Given the description of an element on the screen output the (x, y) to click on. 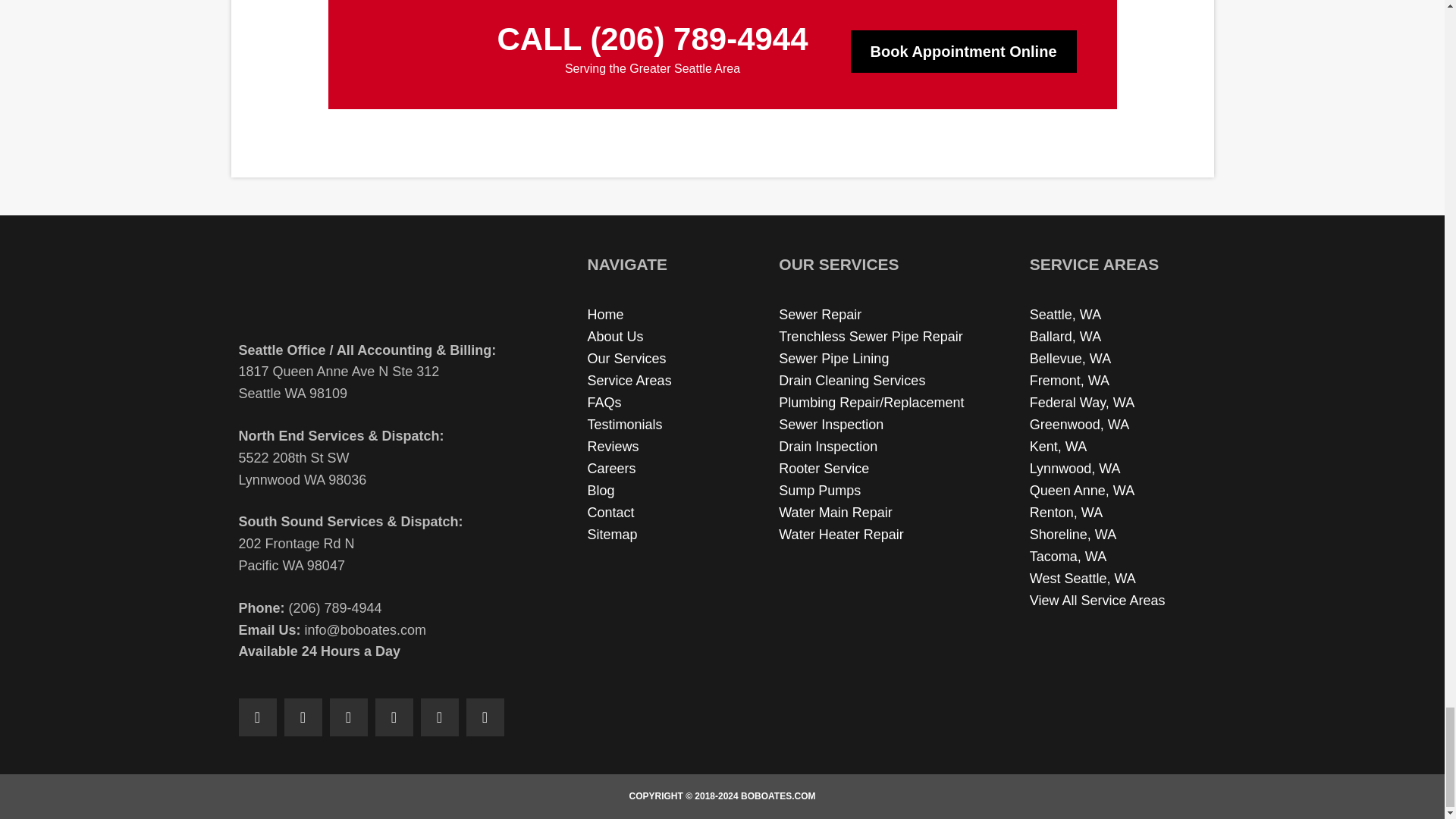
bob-oates-seattle-wa-white (411, 51)
Bob Oates (371, 288)
